Given the description of an element on the screen output the (x, y) to click on. 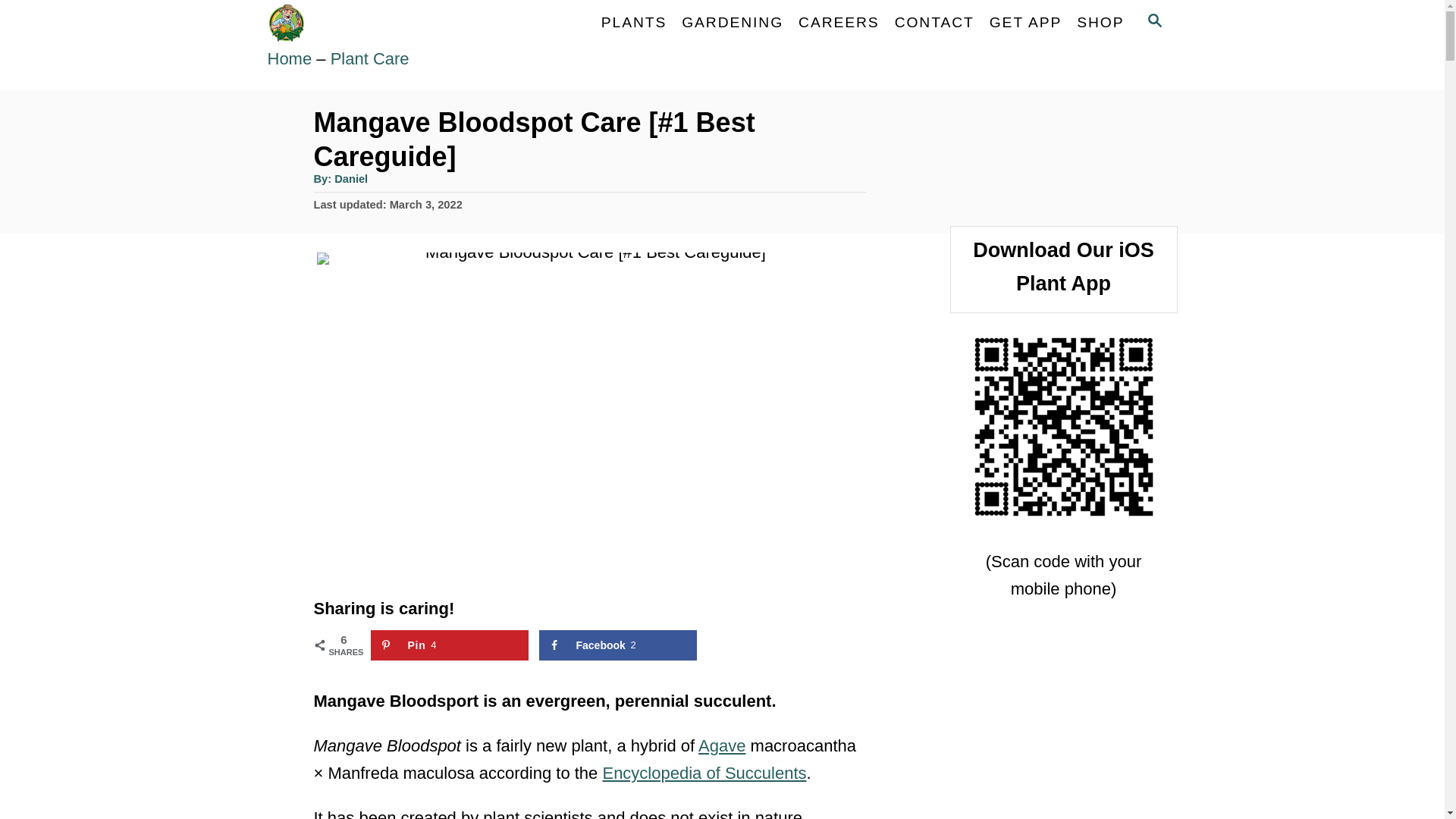
GARDENING (732, 22)
CAREERS (838, 22)
SEARCH (1153, 22)
PLANTS (634, 22)
CONTACT (933, 22)
Plantophiles (403, 22)
Save to Pinterest (448, 644)
Share on Facebook (617, 644)
